Given the description of an element on the screen output the (x, y) to click on. 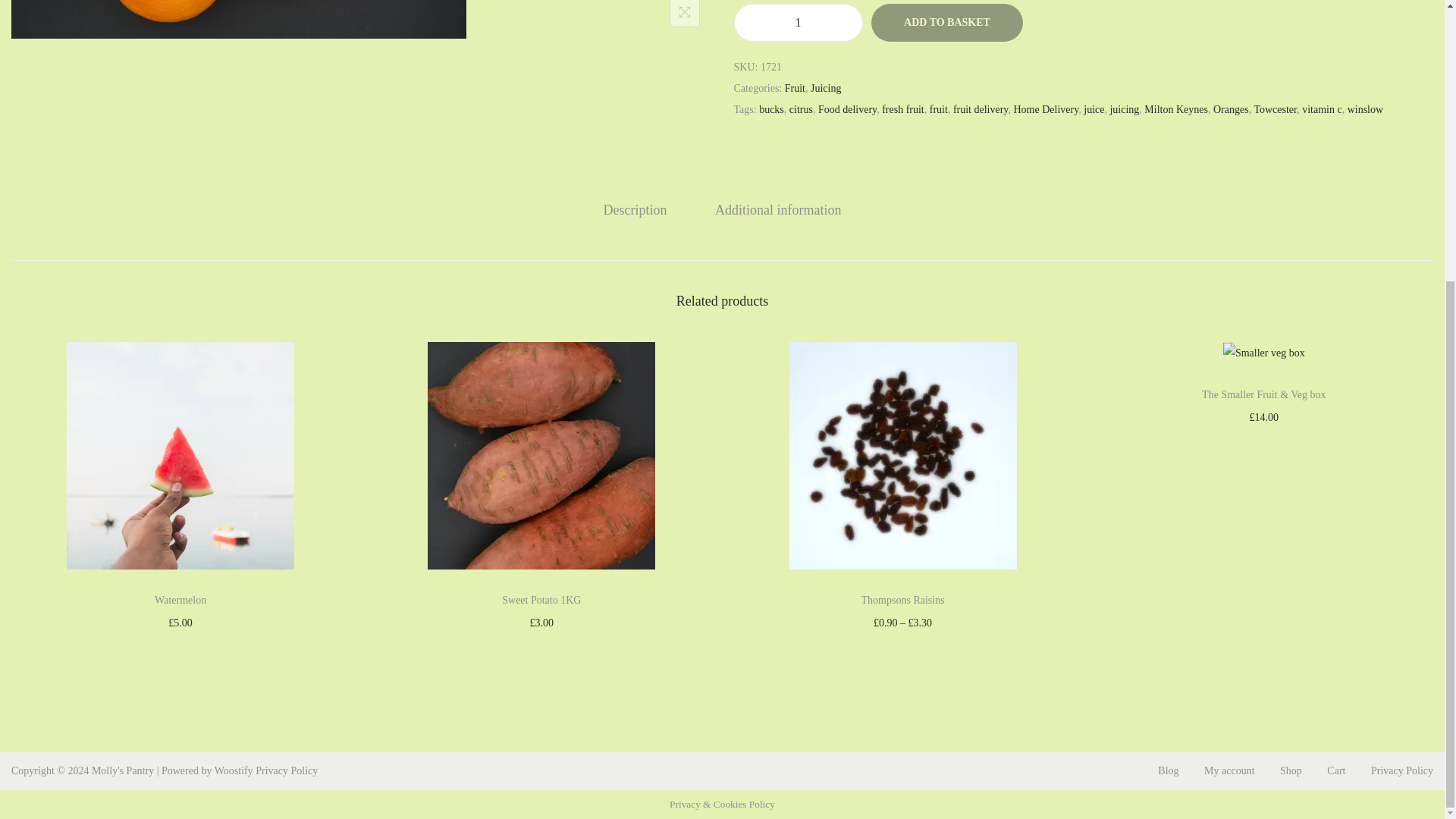
ADD TO BASKET (946, 22)
fruit (938, 109)
Juicing (825, 88)
1 (797, 22)
Food delivery (847, 109)
bucks (771, 109)
citrus (800, 109)
Fruit (794, 88)
fresh fruit (903, 109)
